Given the description of an element on the screen output the (x, y) to click on. 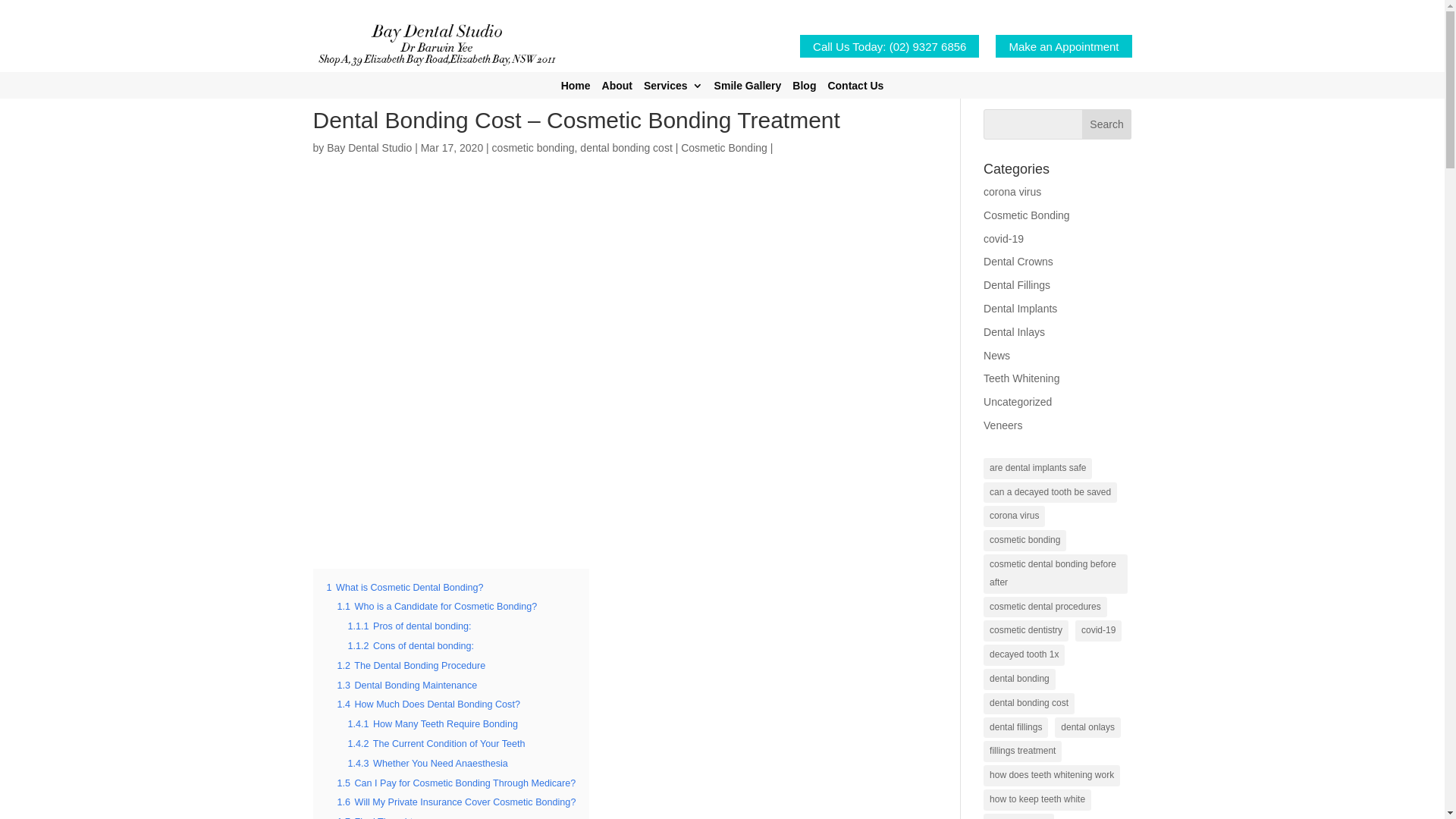
dental fillings Element type: text (1015, 727)
Dental Crowns Element type: text (1018, 261)
1.4.3 Whether You Need Anaesthesia Element type: text (427, 763)
About Element type: text (617, 89)
Uncategorized Element type: text (1017, 401)
Home Element type: text (575, 89)
Smile Gallery Element type: text (747, 89)
how to keep teeth white Element type: text (1037, 799)
dental bonding cost Element type: text (1028, 703)
Contact Us Element type: text (855, 89)
Dental Fillings Element type: text (1016, 285)
decayed tooth 1x Element type: text (1023, 654)
Dental Inlays Element type: text (1013, 332)
Make an Appointment Element type: text (1063, 64)
dental onlays Element type: text (1087, 727)
1.4.2 The Current Condition of Your Teeth Element type: text (435, 743)
cosmetic dentistry Element type: text (1025, 630)
can a decayed tooth be saved Element type: text (1050, 492)
are dental implants safe Element type: text (1037, 468)
Dental Implants Element type: text (1020, 308)
1.3 Dental Bonding Maintenance Element type: text (406, 685)
cosmetic bonding Element type: text (1024, 540)
1.1.2 Cons of dental bonding: Element type: text (410, 645)
Cosmetic Bonding Element type: text (1026, 215)
Teeth Whitening Element type: text (1021, 378)
cosmetic dental procedures Element type: text (1045, 607)
1.1 Who is a Candidate for Cosmetic Bonding? Element type: text (436, 606)
1.4.1 How Many Teeth Require Bonding Element type: text (432, 723)
dental bonding cost Element type: text (625, 147)
1.2 The Dental Bonding Procedure Element type: text (410, 665)
Call Us Today: (02) 9327 6856 Element type: text (889, 64)
News Element type: text (996, 355)
cosmetic bonding Element type: text (533, 147)
Cosmetic Bonding Element type: text (723, 147)
1.4 How Much Does Dental Bonding Cost? Element type: text (427, 704)
corona virus Element type: text (1013, 516)
covid-19 Element type: text (1003, 238)
fillings treatment Element type: text (1022, 751)
covid-19 Element type: text (1098, 630)
Services Element type: text (672, 89)
Bay Dental Studio Element type: text (368, 147)
1.5 Can I Pay for Cosmetic Bonding Through Medicare? Element type: text (455, 783)
cosmetic dental bonding before after Element type: text (1055, 573)
Veneers Element type: text (1002, 425)
1.1.1 Pros of dental bonding: Element type: text (408, 626)
dental bonding Element type: text (1019, 679)
1.6 Will My Private Insurance Cover Cosmetic Bonding? Element type: text (455, 802)
how does teeth whitening work Element type: text (1051, 775)
Search Element type: text (1107, 124)
1 What is Cosmetic Dental Bonding? Element type: text (404, 587)
corona virus Element type: text (1012, 191)
Blog Element type: text (803, 89)
